Given the description of an element on the screen output the (x, y) to click on. 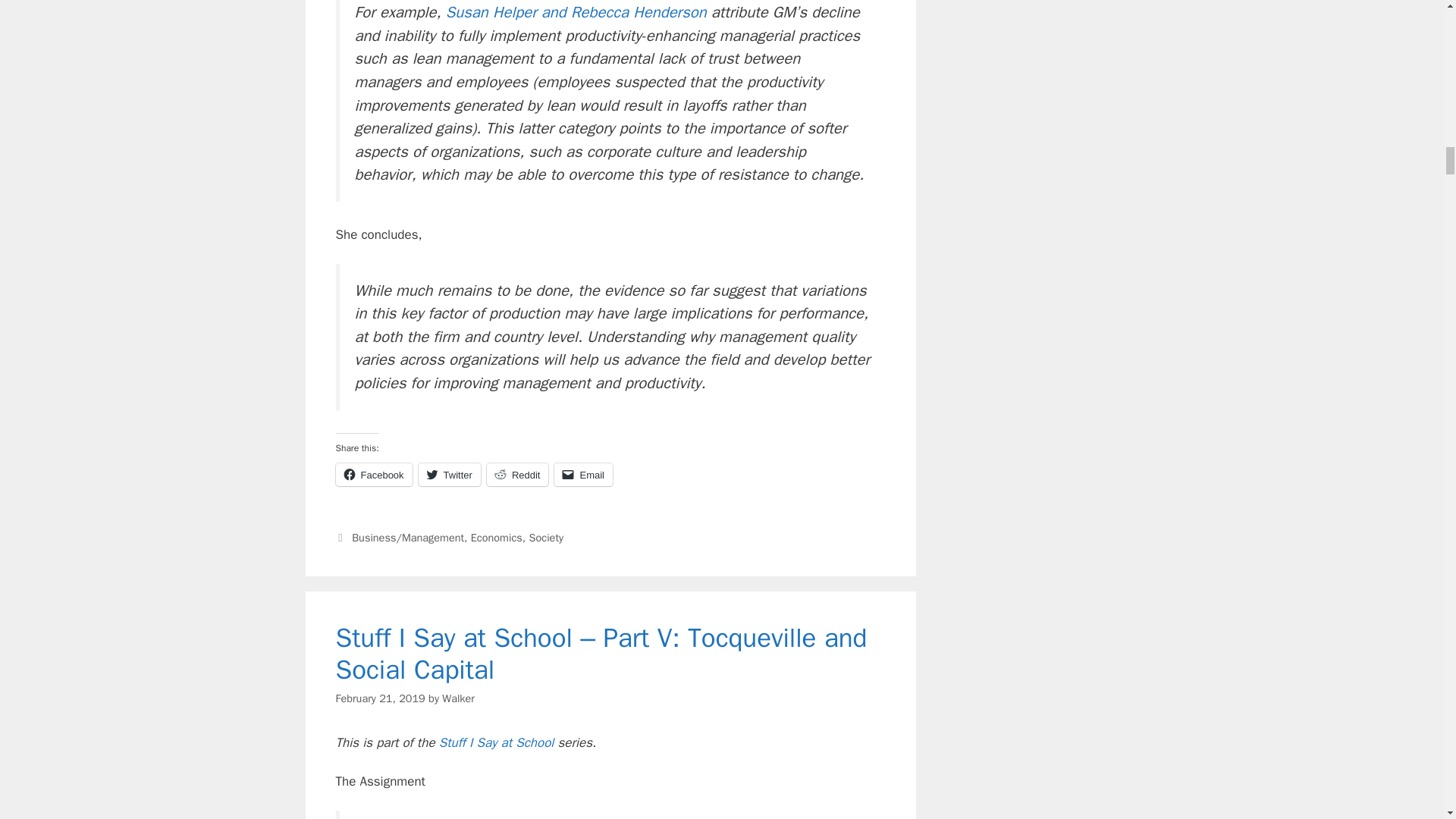
Click to share on Facebook (373, 474)
Click to email a link to a friend (583, 474)
Click to share on Reddit (517, 474)
Click to share on Twitter (449, 474)
View all posts by Walker (458, 698)
